Given the description of an element on the screen output the (x, y) to click on. 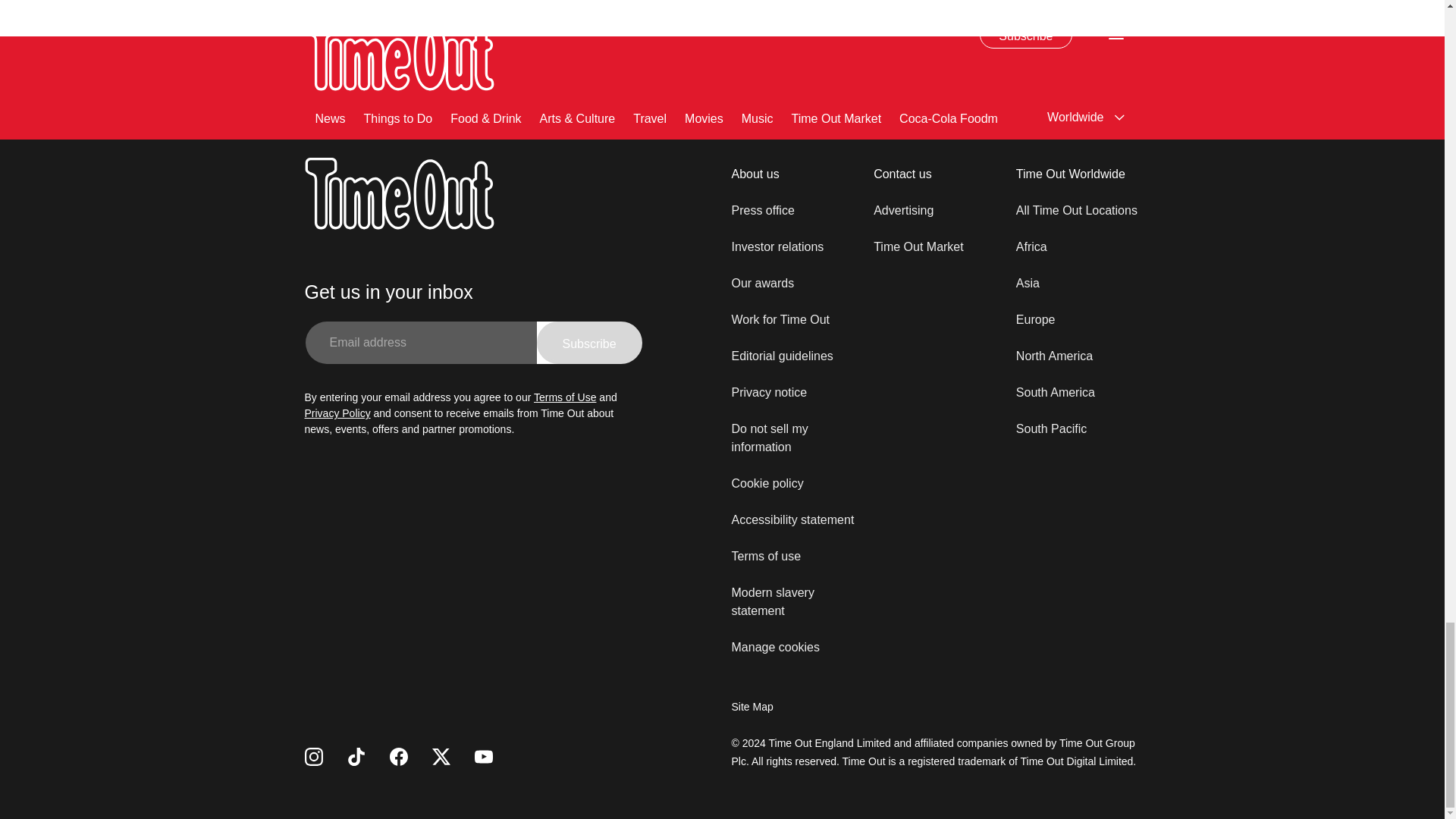
Subscribe (589, 342)
